Given the description of an element on the screen output the (x, y) to click on. 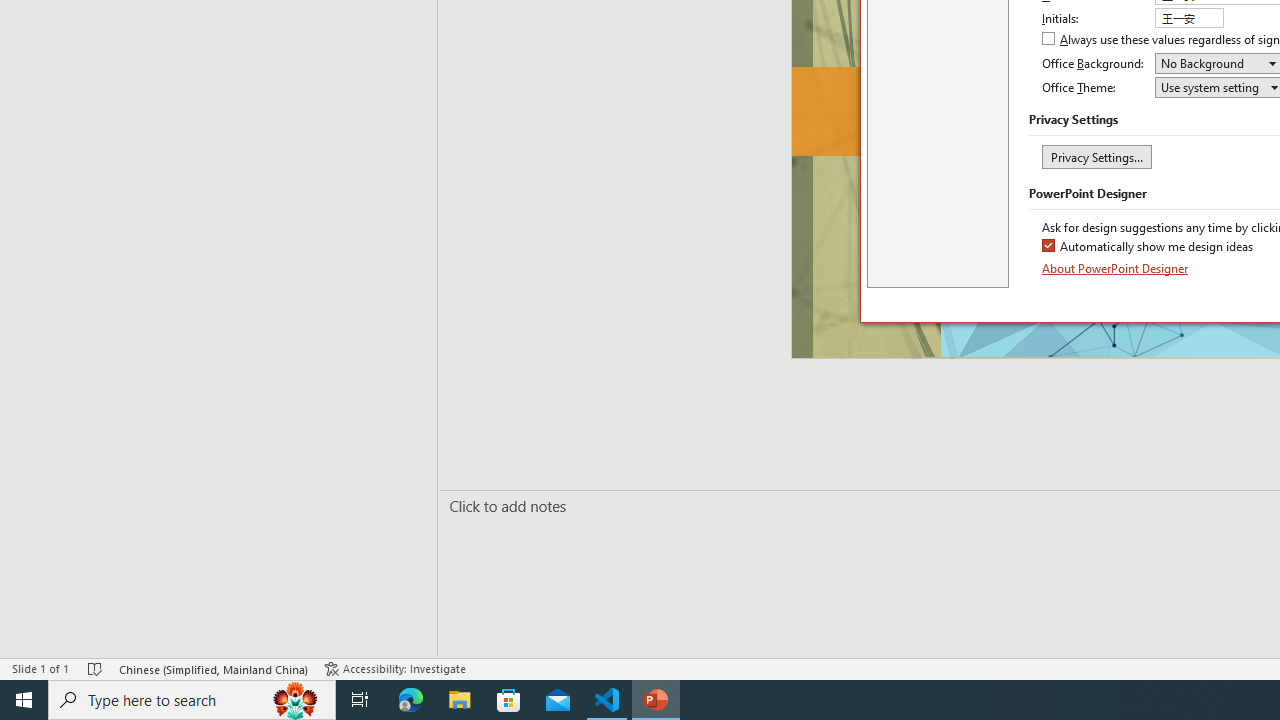
Microsoft Edge (411, 699)
